Given the description of an element on the screen output the (x, y) to click on. 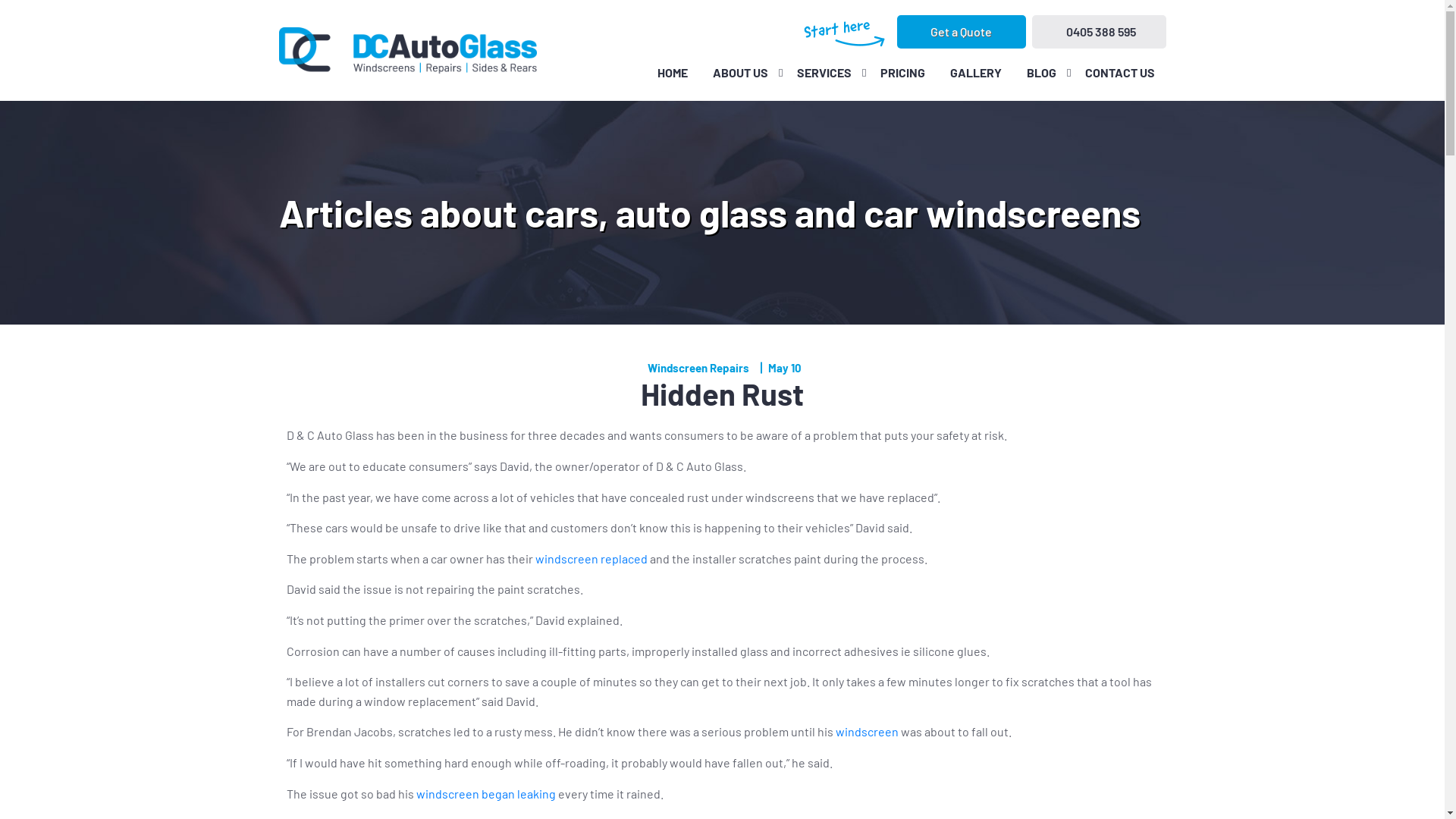
BLOG Element type: text (1040, 72)
Windscreen Repairs Element type: text (697, 367)
ABOUT US Element type: text (739, 72)
HOME Element type: text (672, 72)
0405 388 595 Element type: text (1098, 31)
windscreen Element type: text (866, 731)
windscreen replaced Element type: text (591, 558)
CONTACT US Element type: text (1119, 72)
Skip to content Element type: text (0, 0)
GALLERY Element type: text (975, 72)
SERVICES Element type: text (823, 72)
windscreen began leaking Element type: text (485, 793)
Get a Quote Element type: text (960, 31)
PRICING Element type: text (902, 72)
